Given the description of an element on the screen output the (x, y) to click on. 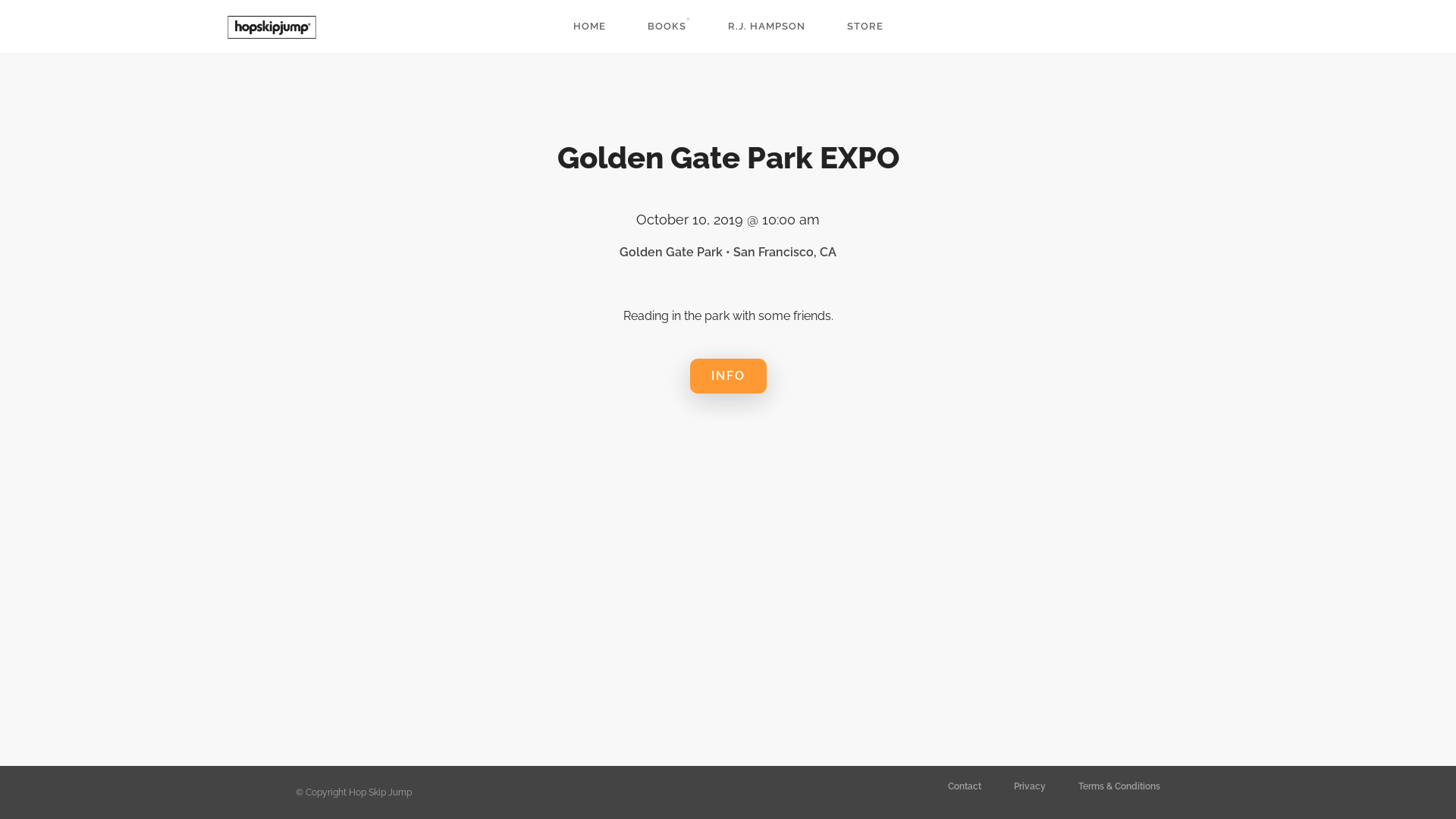
HOME Element type: text (589, 26)
Contact Element type: text (964, 785)
INFO Element type: text (728, 375)
R.J. HAMPSON Element type: text (766, 26)
Privacy Element type: text (1029, 785)
BOOKS Element type: text (666, 26)
Terms & Conditions Element type: text (1119, 785)
STORE Element type: text (864, 26)
